Given the description of an element on the screen output the (x, y) to click on. 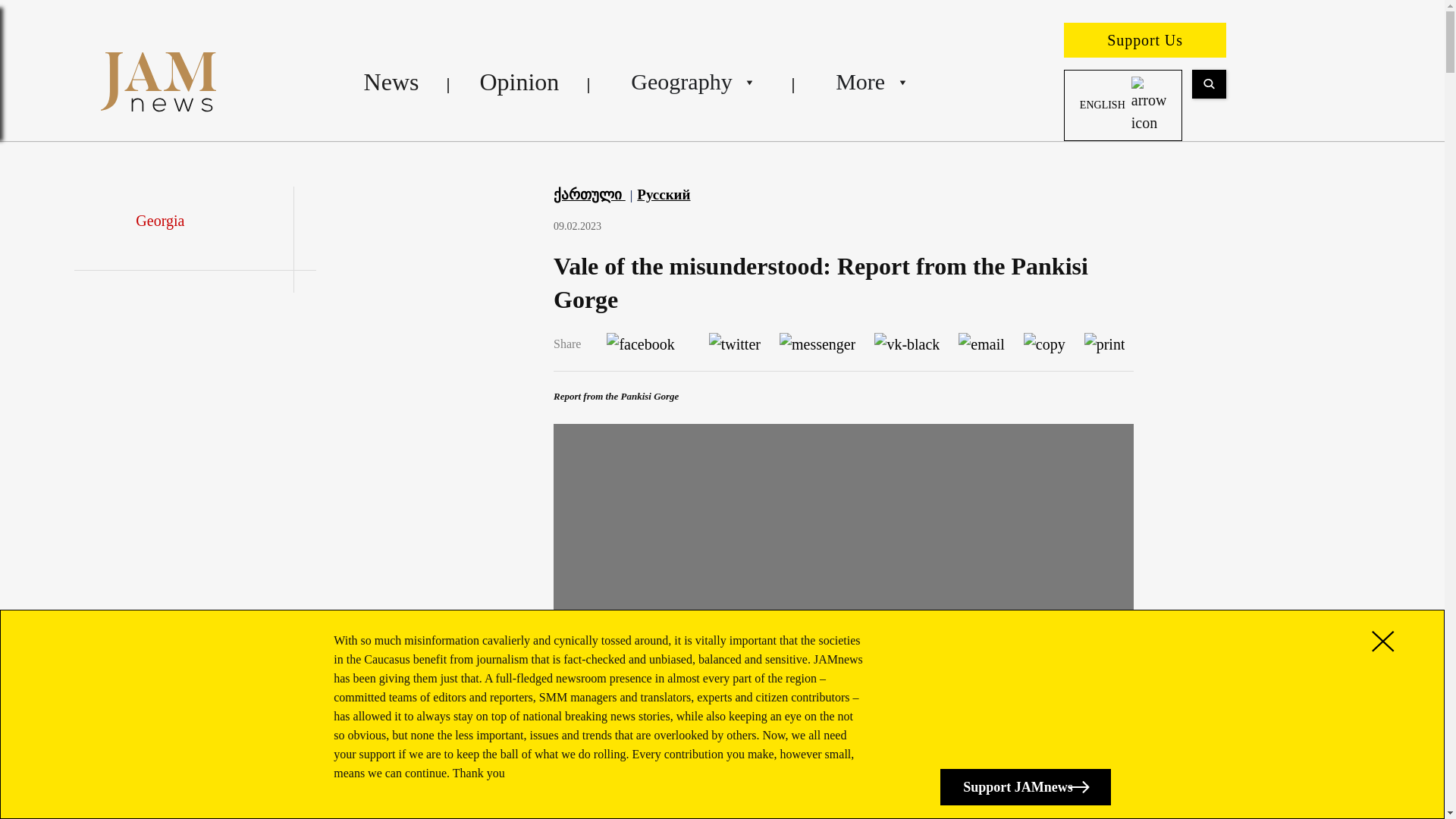
More (869, 81)
Geography (691, 81)
Opinion (518, 81)
News (391, 81)
Support Us (1145, 39)
